Given the description of an element on the screen output the (x, y) to click on. 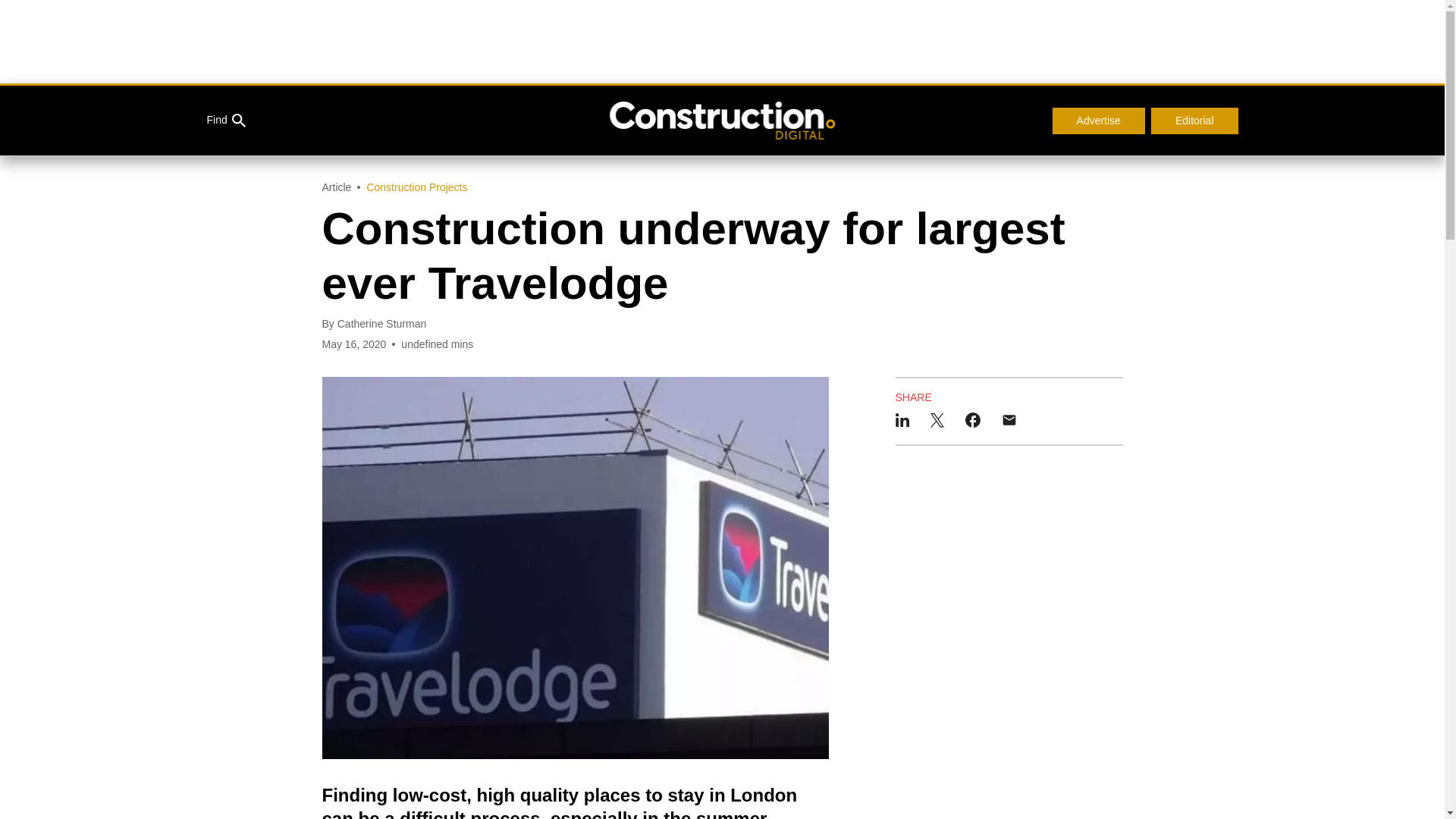
Editorial (1195, 121)
Find (225, 120)
Advertise (1098, 121)
